Given the description of an element on the screen output the (x, y) to click on. 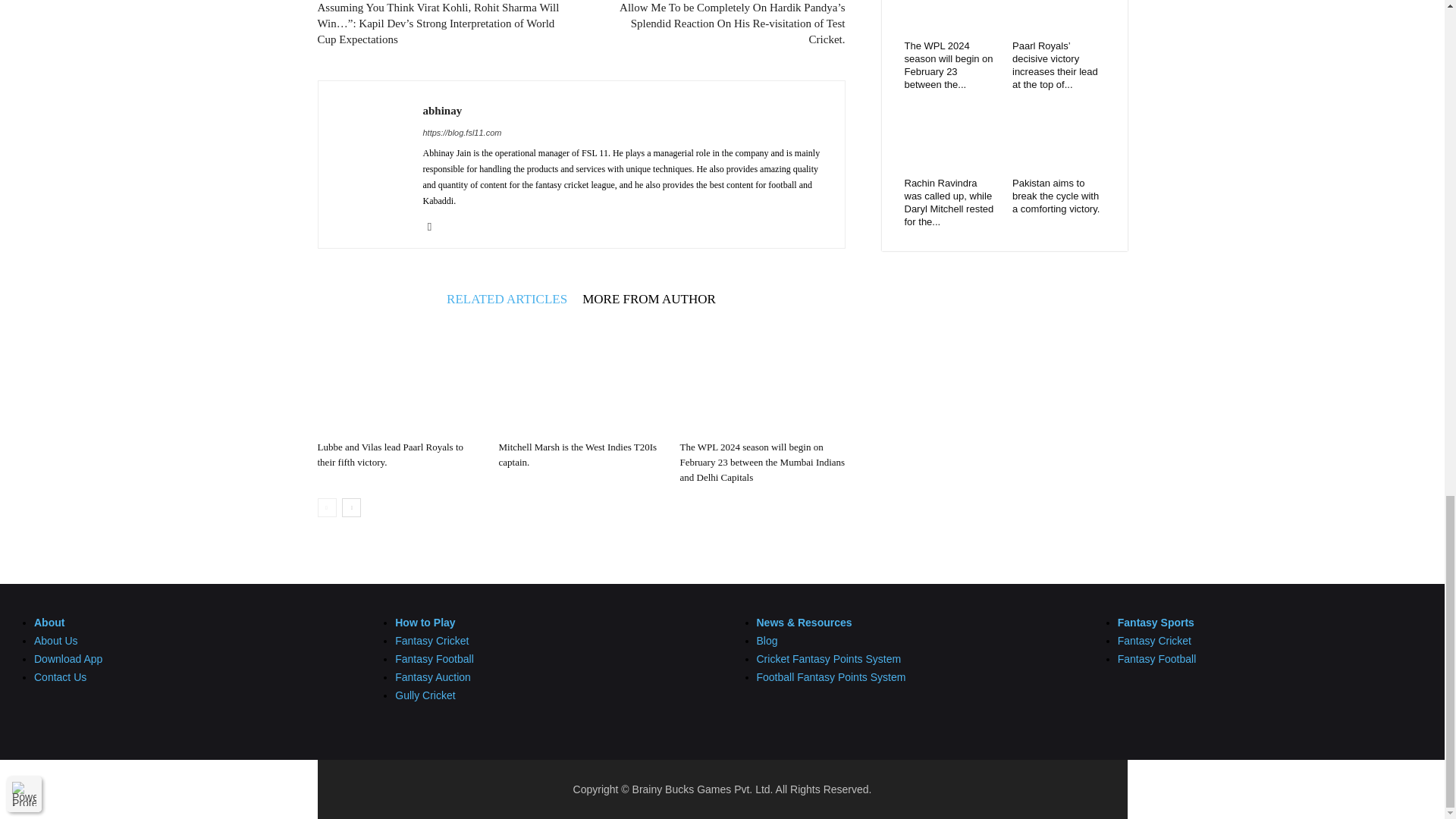
Youtube (435, 226)
Lubbe and Vilas lead Paarl Royals to their fifth victory. (399, 377)
